Given the description of an element on the screen output the (x, y) to click on. 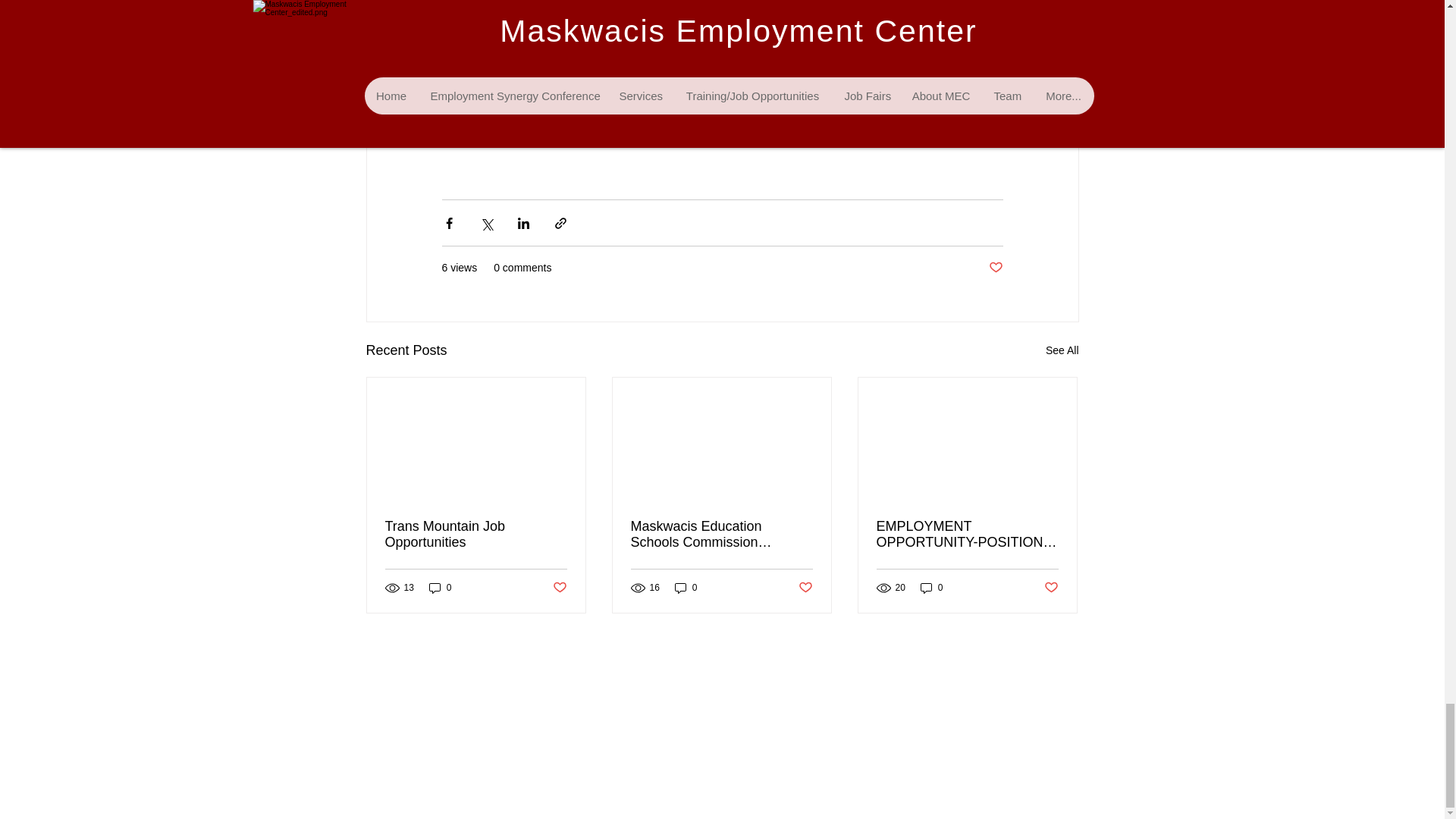
Post not marked as liked (558, 587)
Post not marked as liked (804, 587)
Post not marked as liked (995, 268)
Post not marked as liked (1050, 587)
Trans Mountain Job Opportunities (476, 534)
See All (1061, 350)
0 (440, 587)
0 (931, 587)
0 (685, 587)
